Given the description of an element on the screen output the (x, y) to click on. 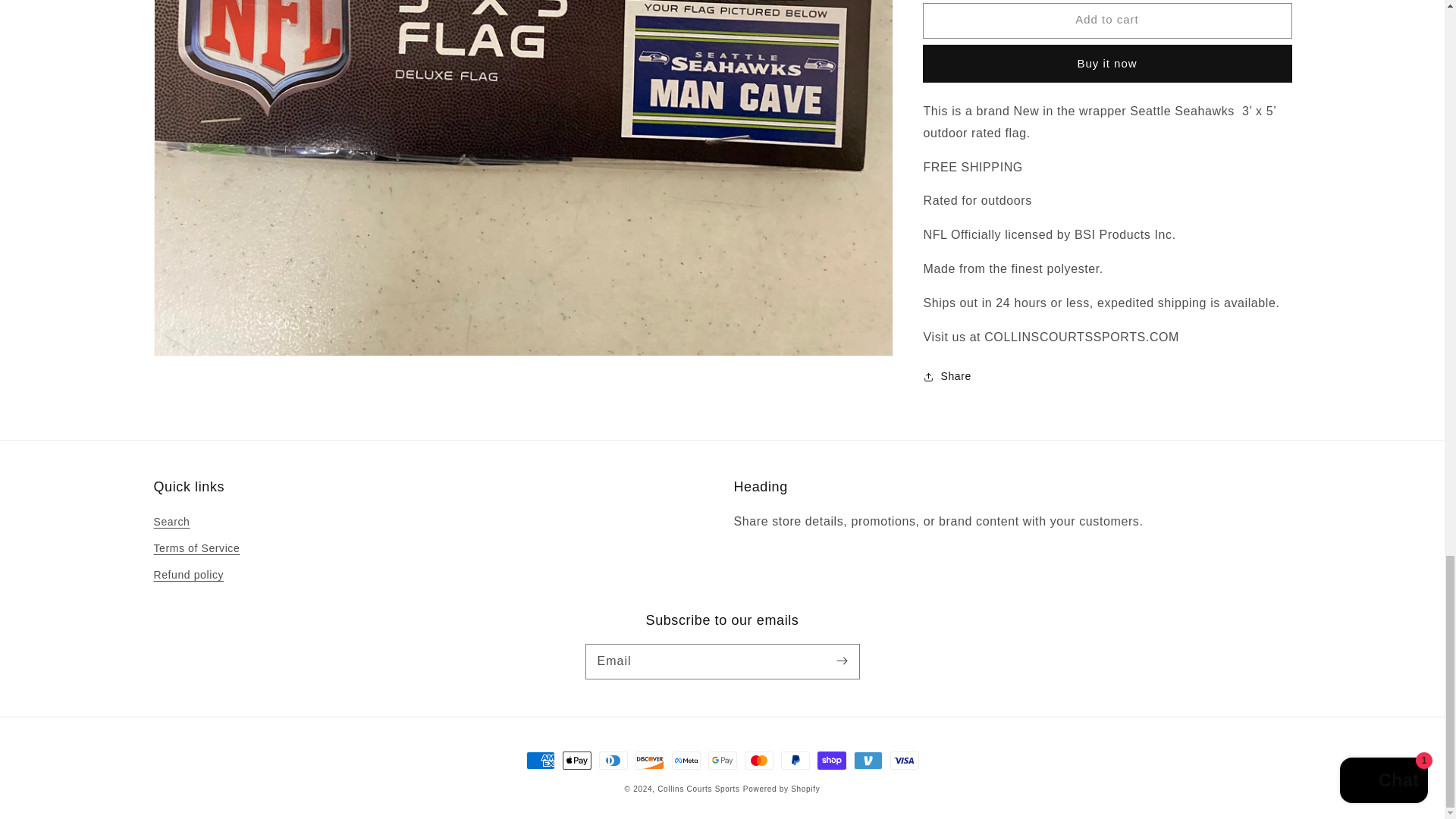
Collins Courts Sports (698, 788)
Search (170, 523)
Terms of Service (196, 548)
Refund policy (188, 574)
Powered by Shopify (781, 788)
